Given the description of an element on the screen output the (x, y) to click on. 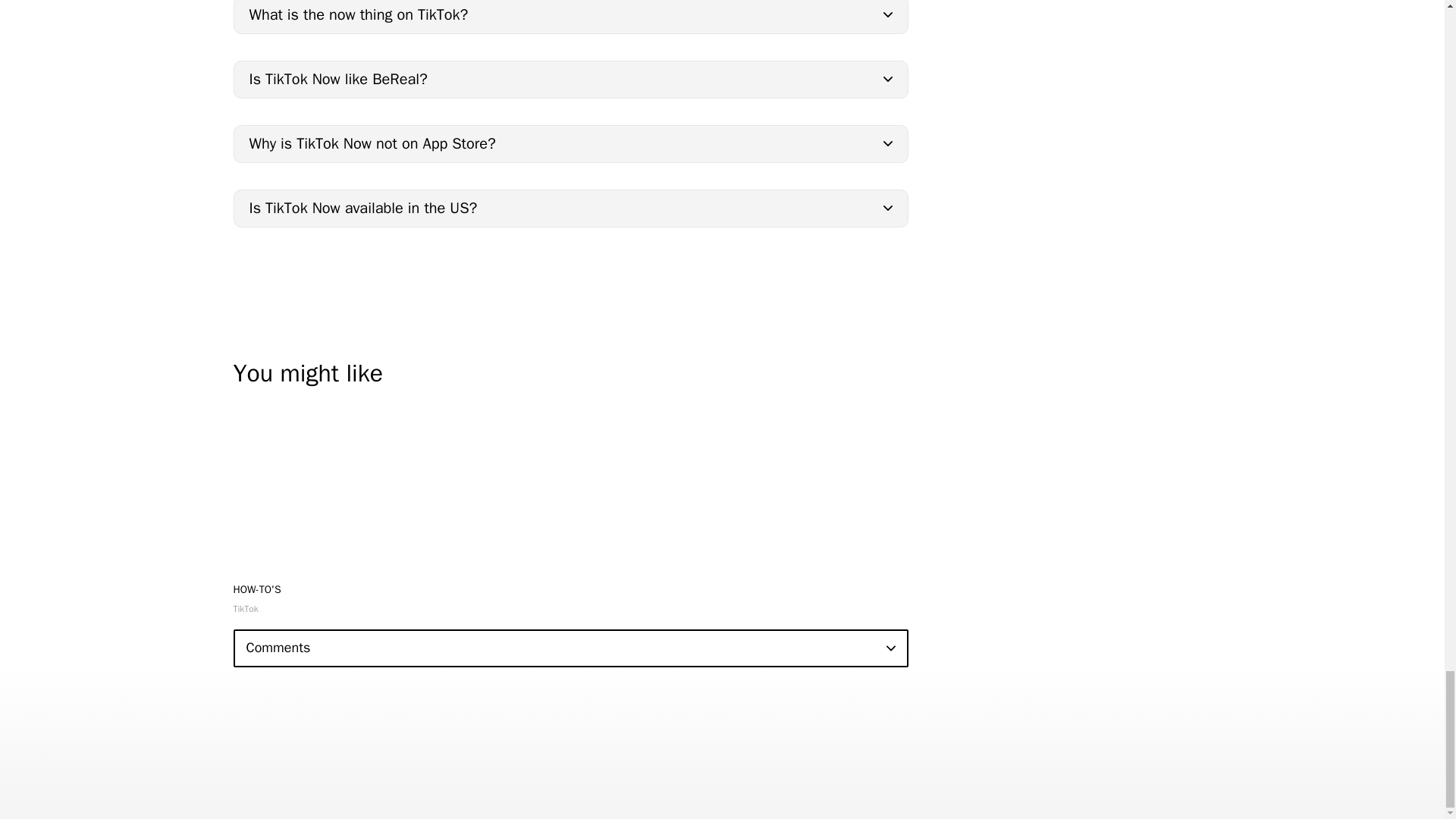
Is TikTok Now available in the US? (570, 208)
Is TikTok Now like BeReal? (570, 79)
HOW-TO'S (256, 589)
Comments (570, 648)
What is the now thing on TikTok? (570, 17)
TikTok (245, 608)
Why is TikTok Now not on App Store? (570, 143)
